Given the description of an element on the screen output the (x, y) to click on. 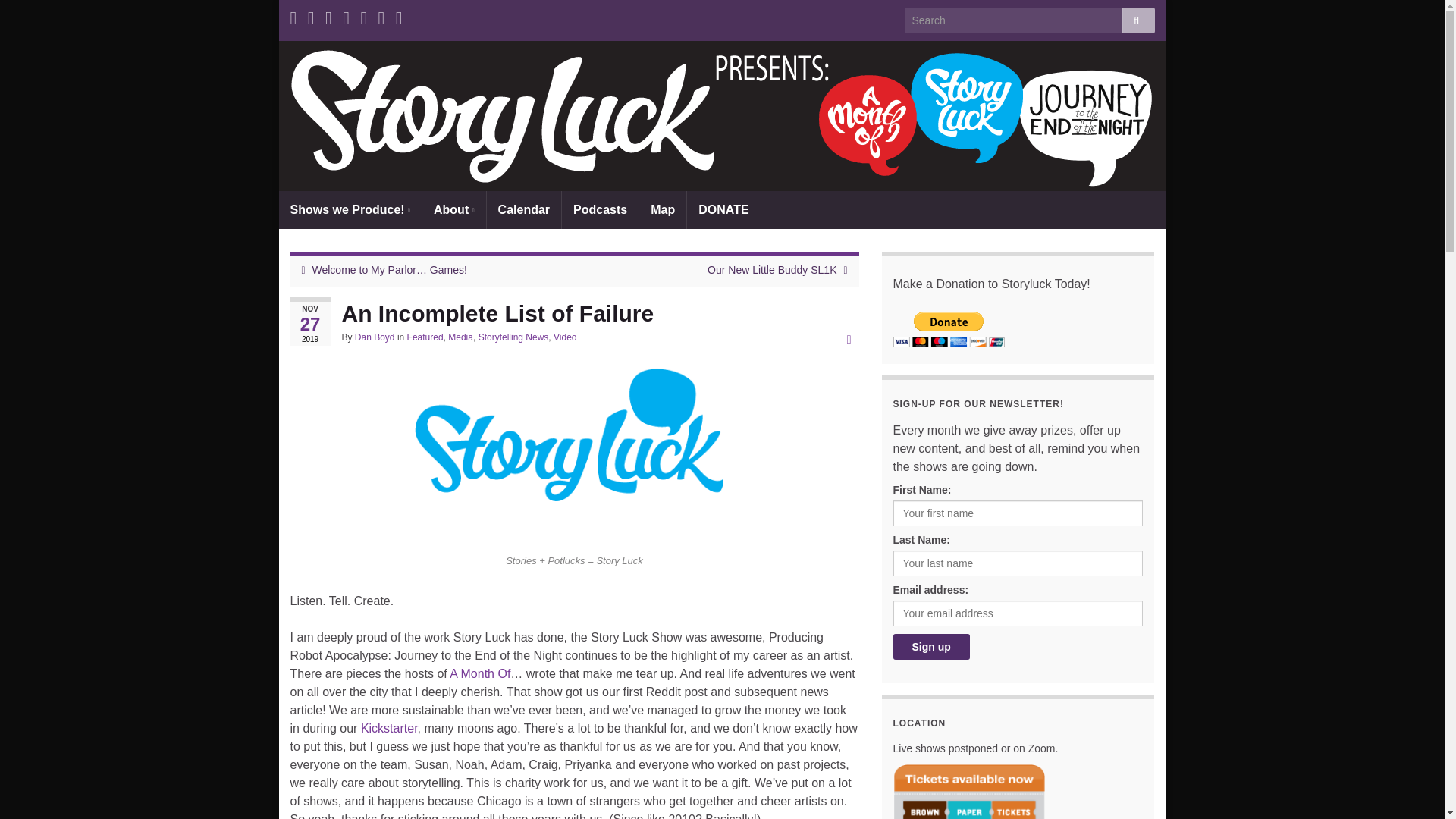
Calendar (523, 209)
About (454, 209)
PayPal - The safer, easier way to pay online! (948, 329)
Our New Little Buddy SL1K (771, 269)
DONATE (723, 209)
Sign up (931, 646)
Go back to the front page (722, 115)
Dan Boyd (374, 337)
Podcasts (600, 209)
